Given the description of an element on the screen output the (x, y) to click on. 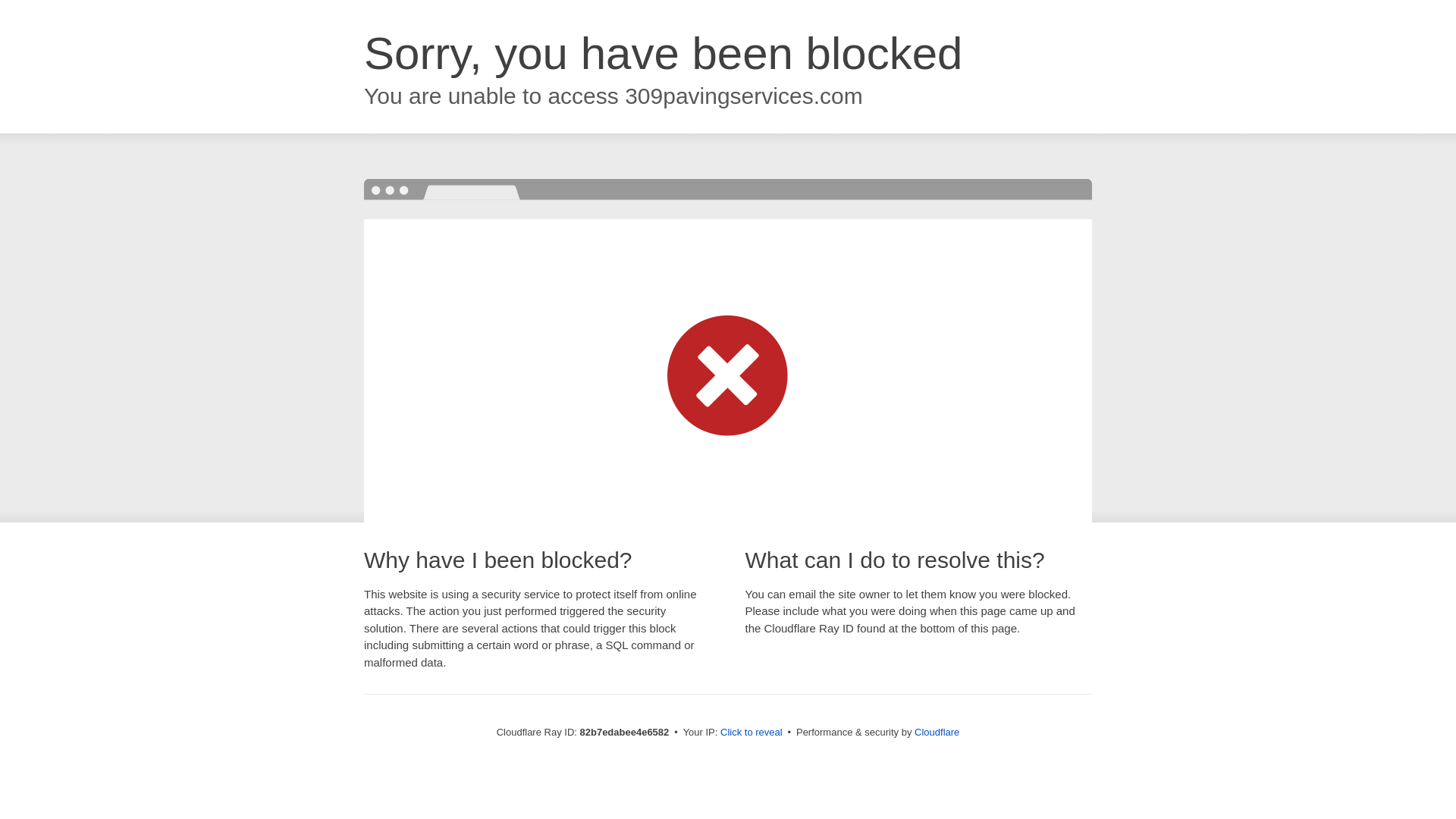
Click to reveal Element type: text (751, 732)
Cloudflare Element type: text (936, 731)
